Given the description of an element on the screen output the (x, y) to click on. 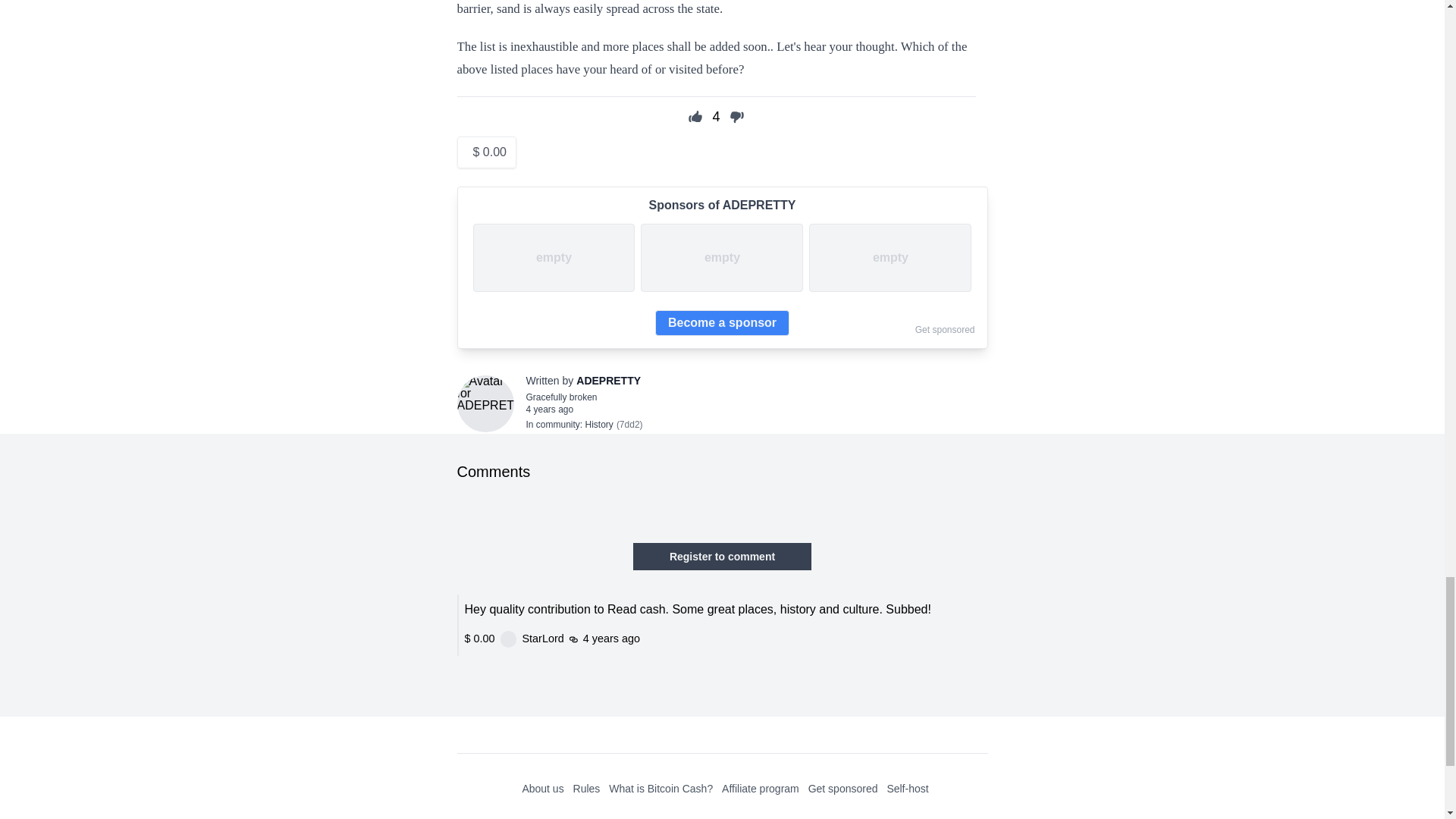
Self-host (907, 788)
Register to comment (721, 556)
Affiliate program (760, 788)
Rules (586, 788)
What is Bitcoin Cash? (660, 788)
Get sponsored (842, 788)
community (557, 424)
ADEPRETTY (608, 380)
About us (542, 788)
Become a sponsor (722, 322)
